Given the description of an element on the screen output the (x, y) to click on. 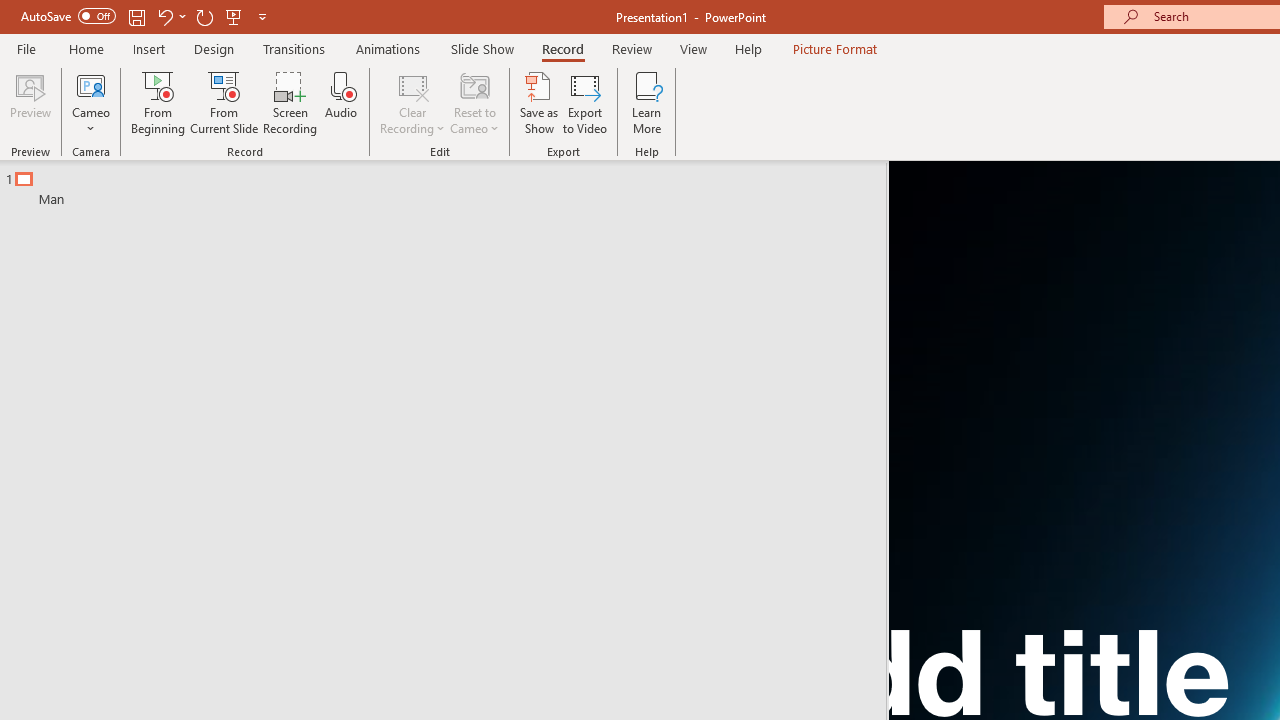
Picture Format (834, 48)
